Given the description of an element on the screen output the (x, y) to click on. 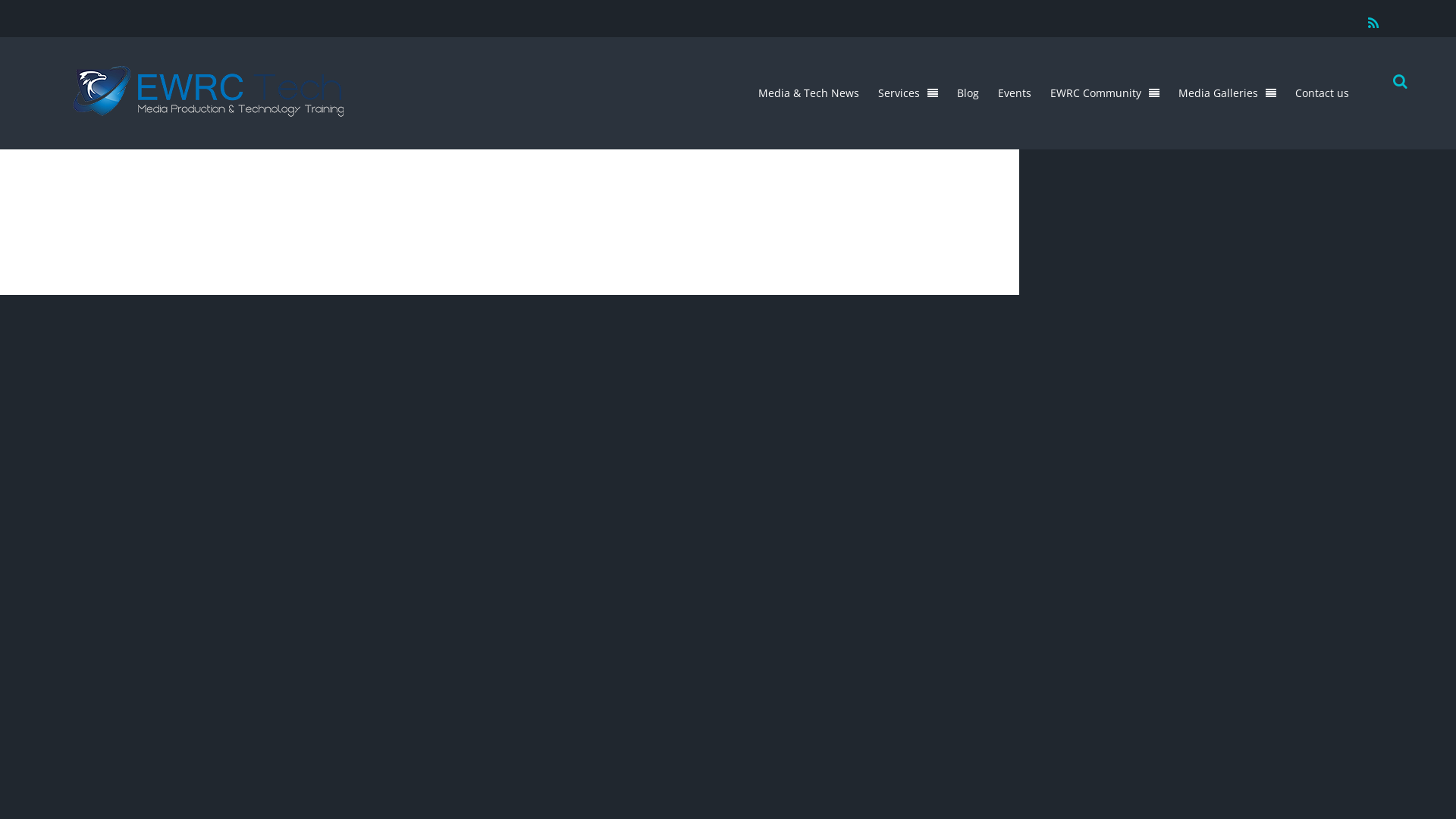
Blog Element type: text (967, 92)
Events Element type: text (1014, 92)
Media & Tech News Element type: text (808, 92)
Services Element type: text (907, 92)
EWRC Community Element type: text (1104, 92)
EWRC Technology - Produce & Train Element type: hover (208, 90)
Search Element type: hover (1396, 82)
Media Galleries Element type: text (1226, 92)
EWRC Technology - Produce & Train Element type: hover (208, 108)
Contact us Element type: text (1321, 92)
